Given the description of an element on the screen output the (x, y) to click on. 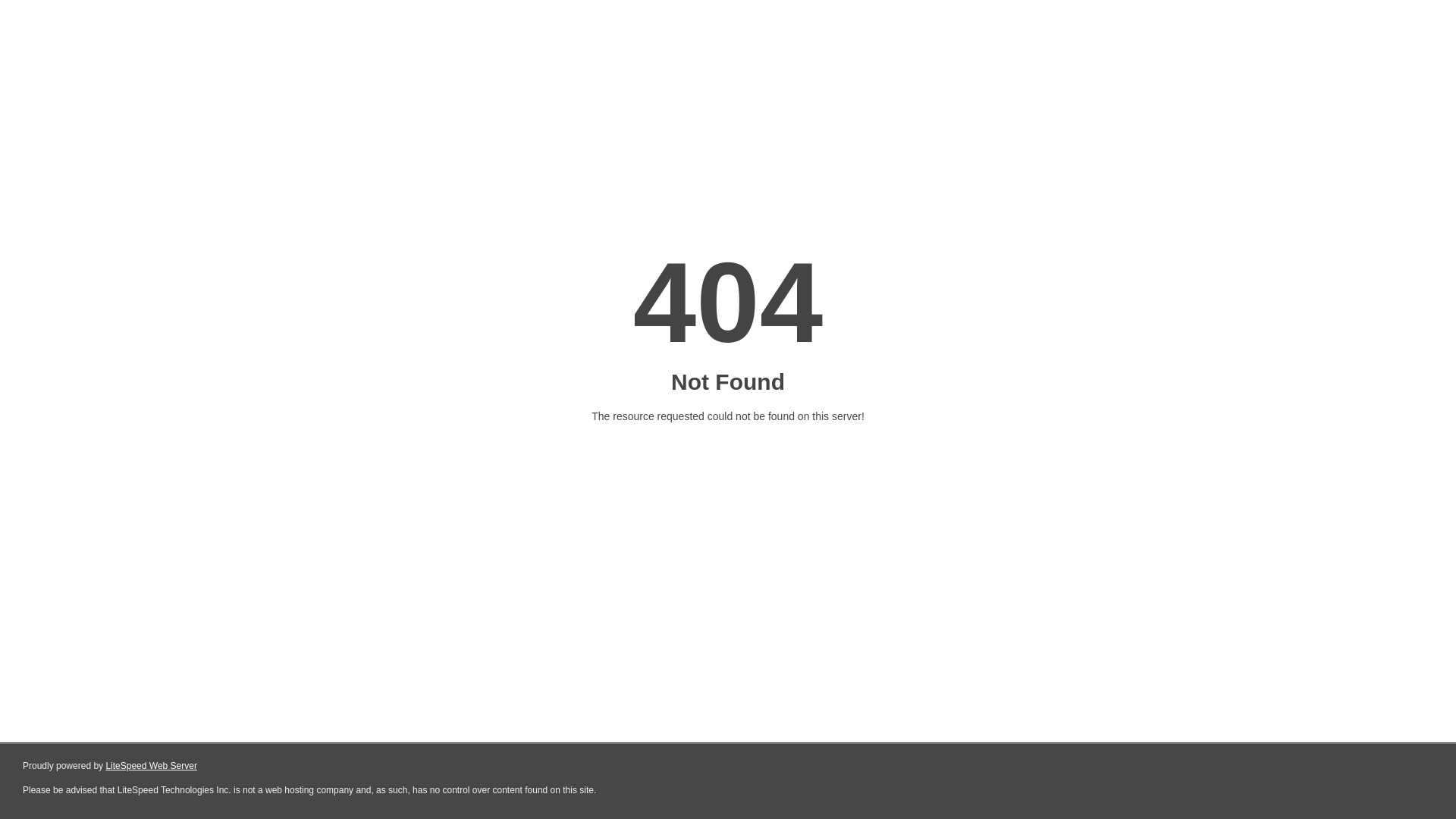
LiteSpeed Web Server Element type: text (151, 765)
